Given the description of an element on the screen output the (x, y) to click on. 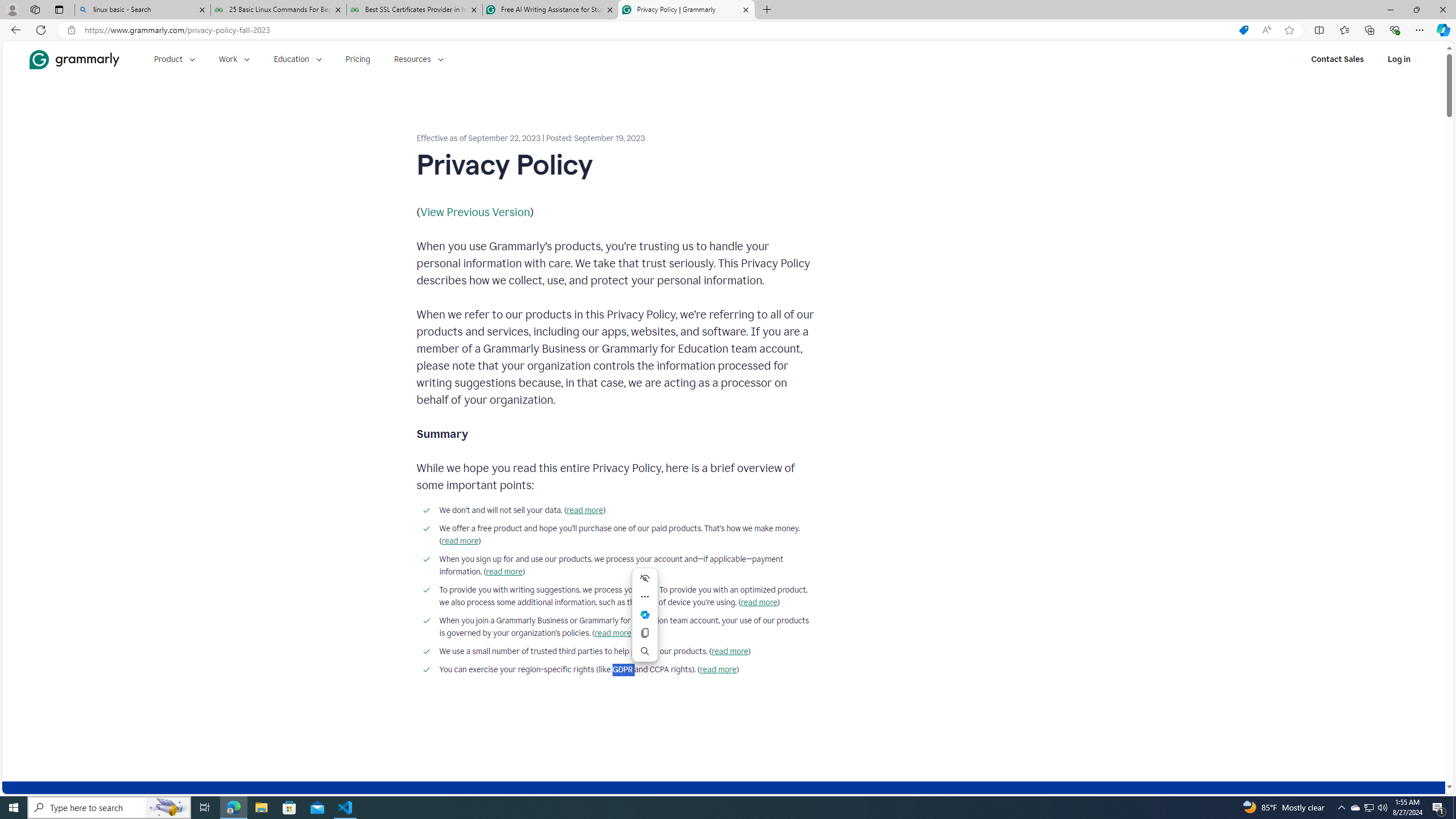
View Previous Version (474, 211)
Ask Copilot (644, 615)
Hide menu (644, 578)
Resources (419, 58)
Grammarly Home (74, 59)
